Given the description of an element on the screen output the (x, y) to click on. 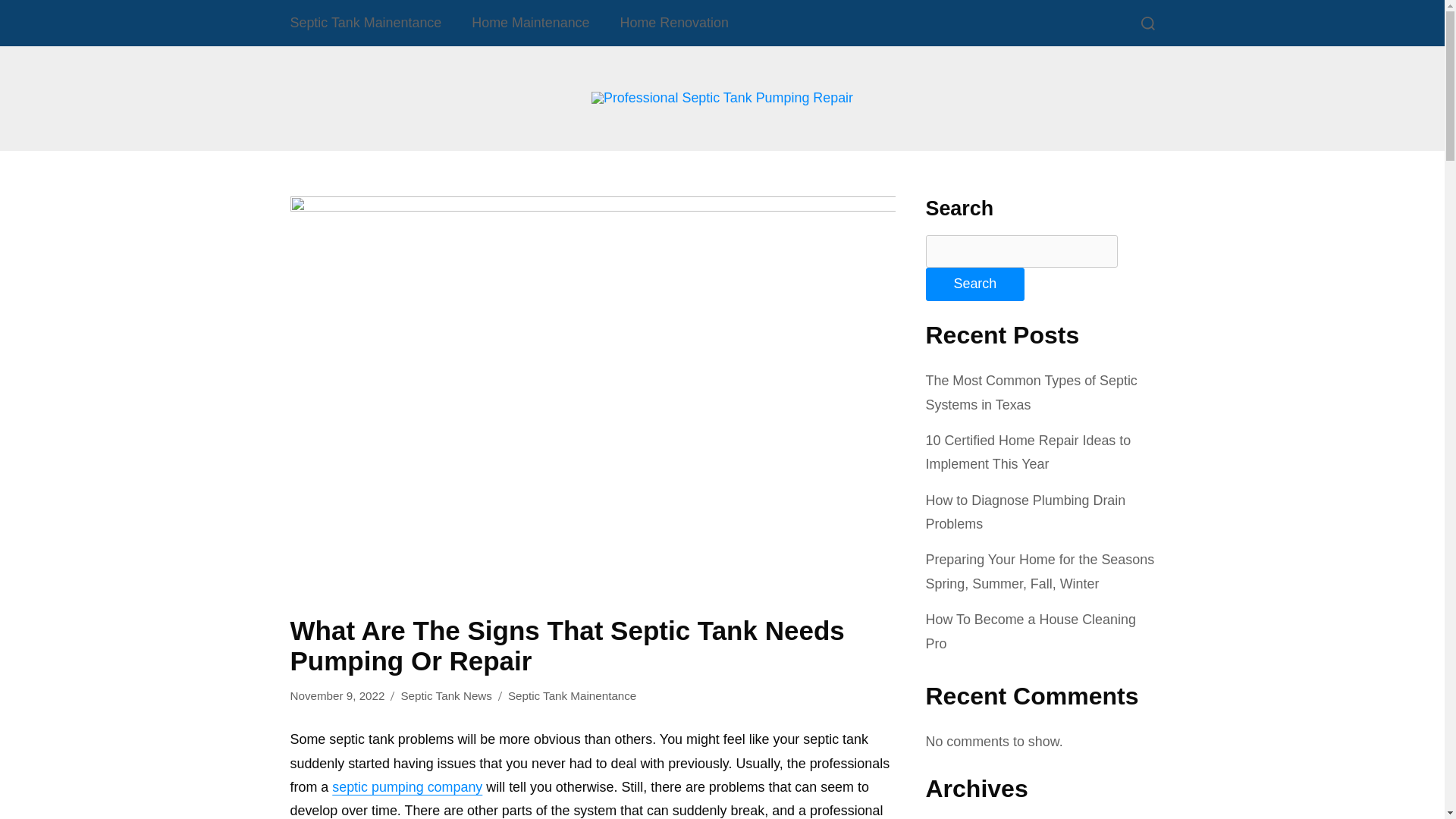
Home Renovation (674, 22)
The Most Common Types of Septic Systems in Texas (1030, 392)
septic pumping company (406, 786)
How to Diagnose Plumbing Drain Problems (1024, 512)
November 9, 2022 (336, 696)
How To Become a House Cleaning Pro (1029, 630)
Septic Tank News (446, 696)
Home Maintenance (530, 22)
Search (974, 284)
10 Certified Home Repair Ideas to Implement This Year (1027, 452)
Septic Tank Mainentance (366, 22)
Septic Tank Mainentance (572, 696)
